Given the description of an element on the screen output the (x, y) to click on. 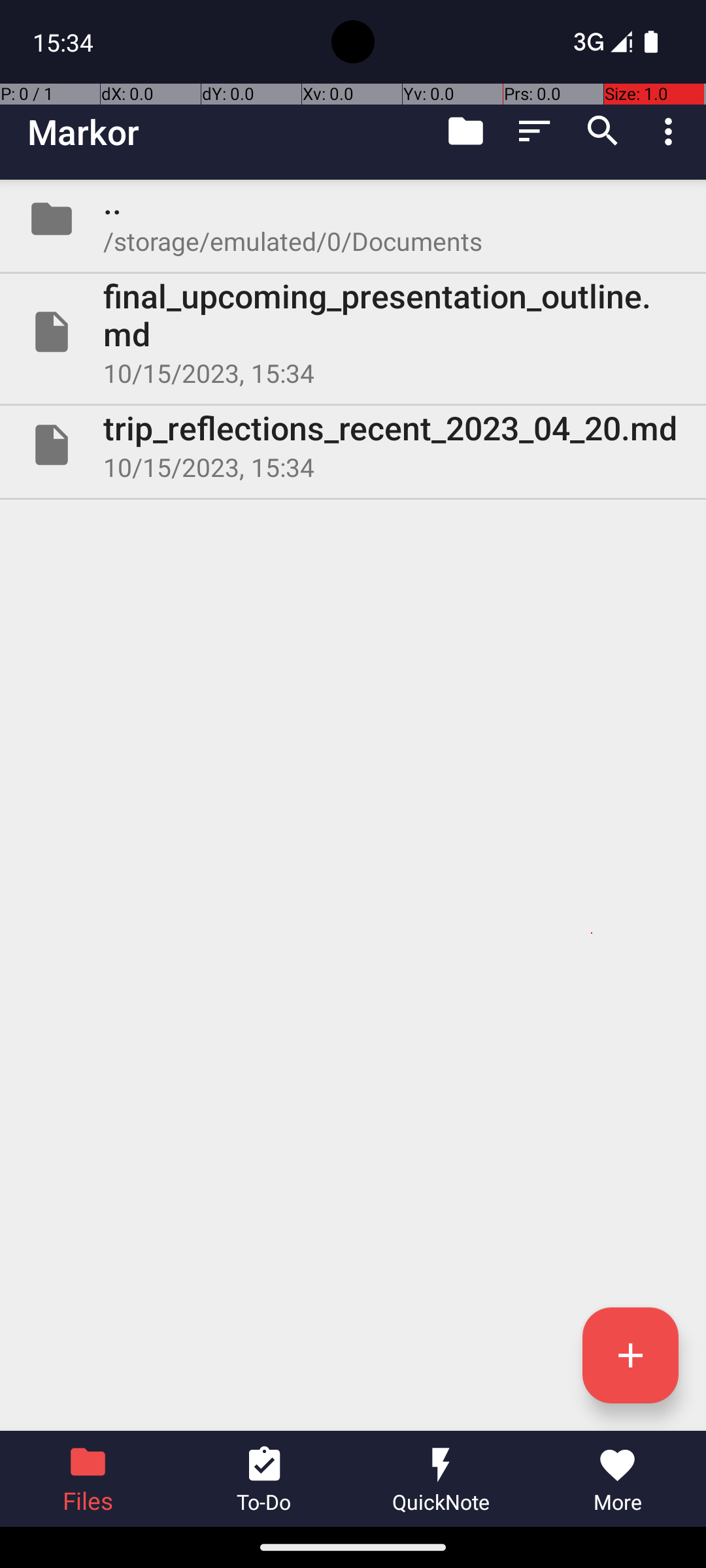
File final_upcoming_presentation_outline.md  Element type: android.widget.LinearLayout (353, 331)
File trip_reflections_recent_2023_04_20.md  Element type: android.widget.LinearLayout (353, 444)
